Given the description of an element on the screen output the (x, y) to click on. 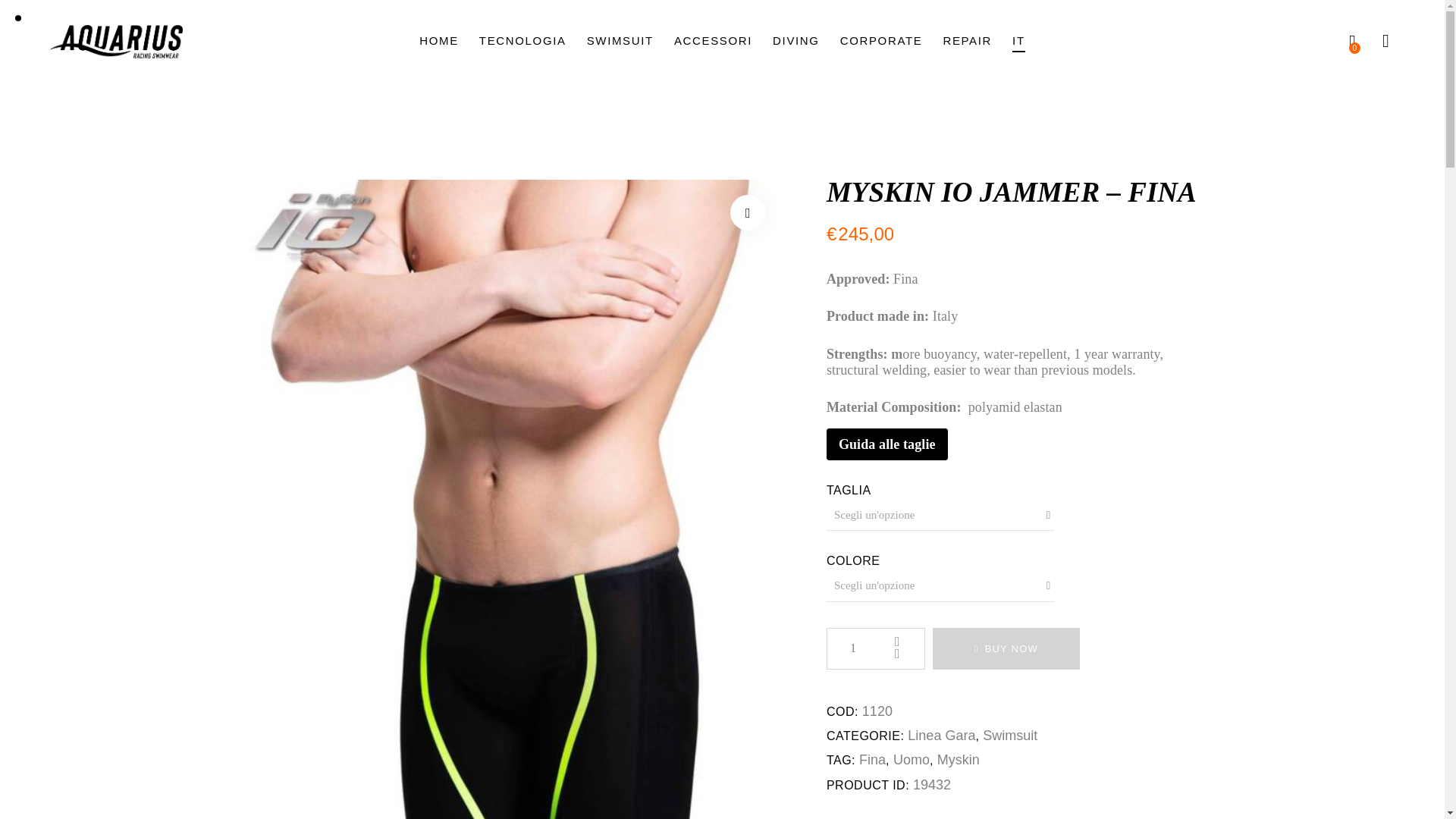
REPAIR (968, 41)
TECNOLOGIA (522, 41)
SWIMSUIT (619, 41)
ACCESSORI (712, 41)
DIVING (795, 41)
HOME (438, 41)
1 (875, 648)
CORPORATE (881, 41)
